Given the description of an element on the screen output the (x, y) to click on. 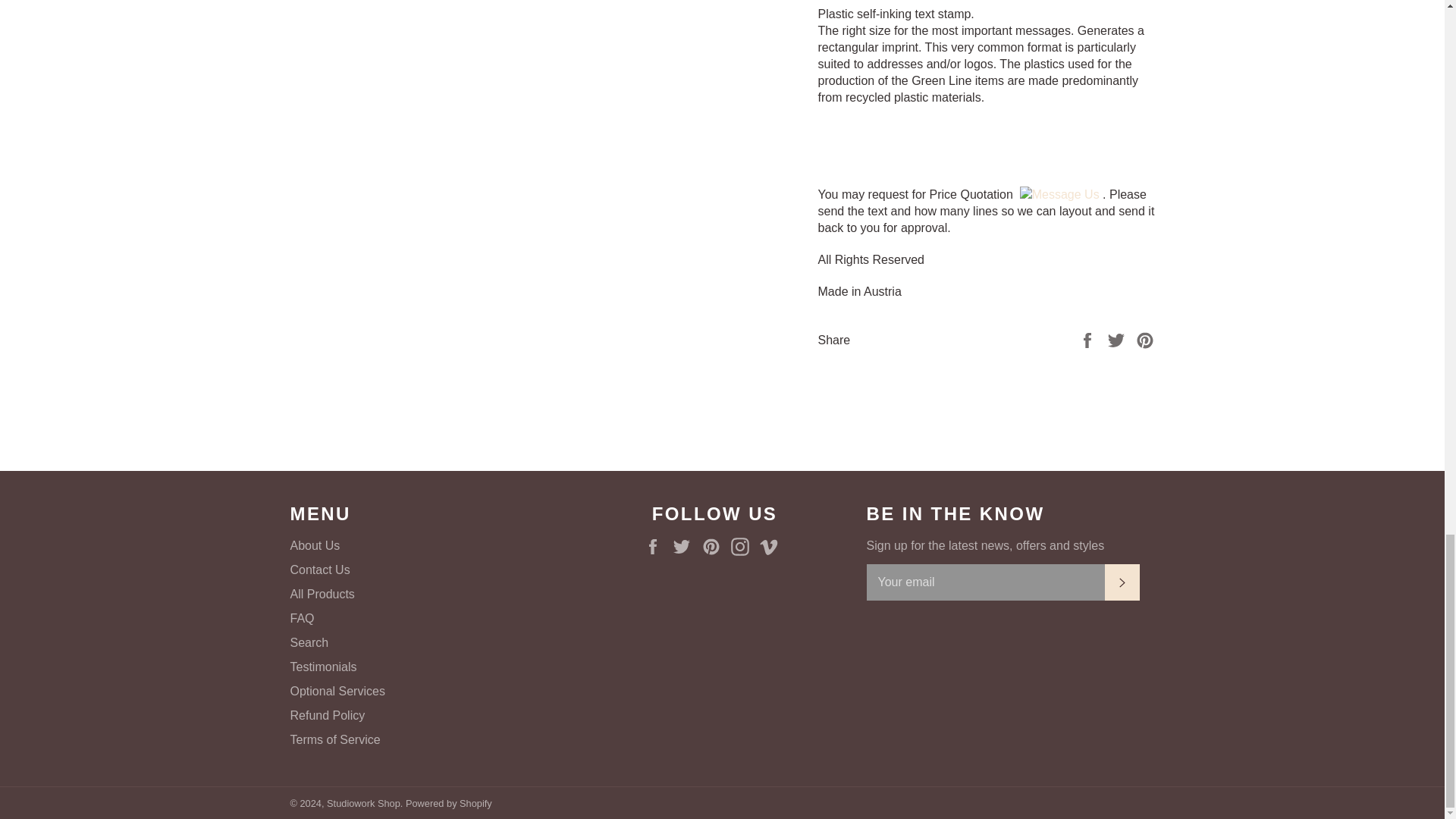
Tweet on Twitter (1117, 339)
Studiowork Shop on Instagram (743, 546)
Share on Facebook (1088, 339)
Studiowork Shop on Vimeo (773, 546)
Message Us (1059, 194)
Pin on Pinterest (1144, 339)
Studiowork Shop on Twitter (685, 546)
Studiowork Shop on Facebook (656, 546)
Studiowork Shop on Pinterest (714, 546)
